Given the description of an element on the screen output the (x, y) to click on. 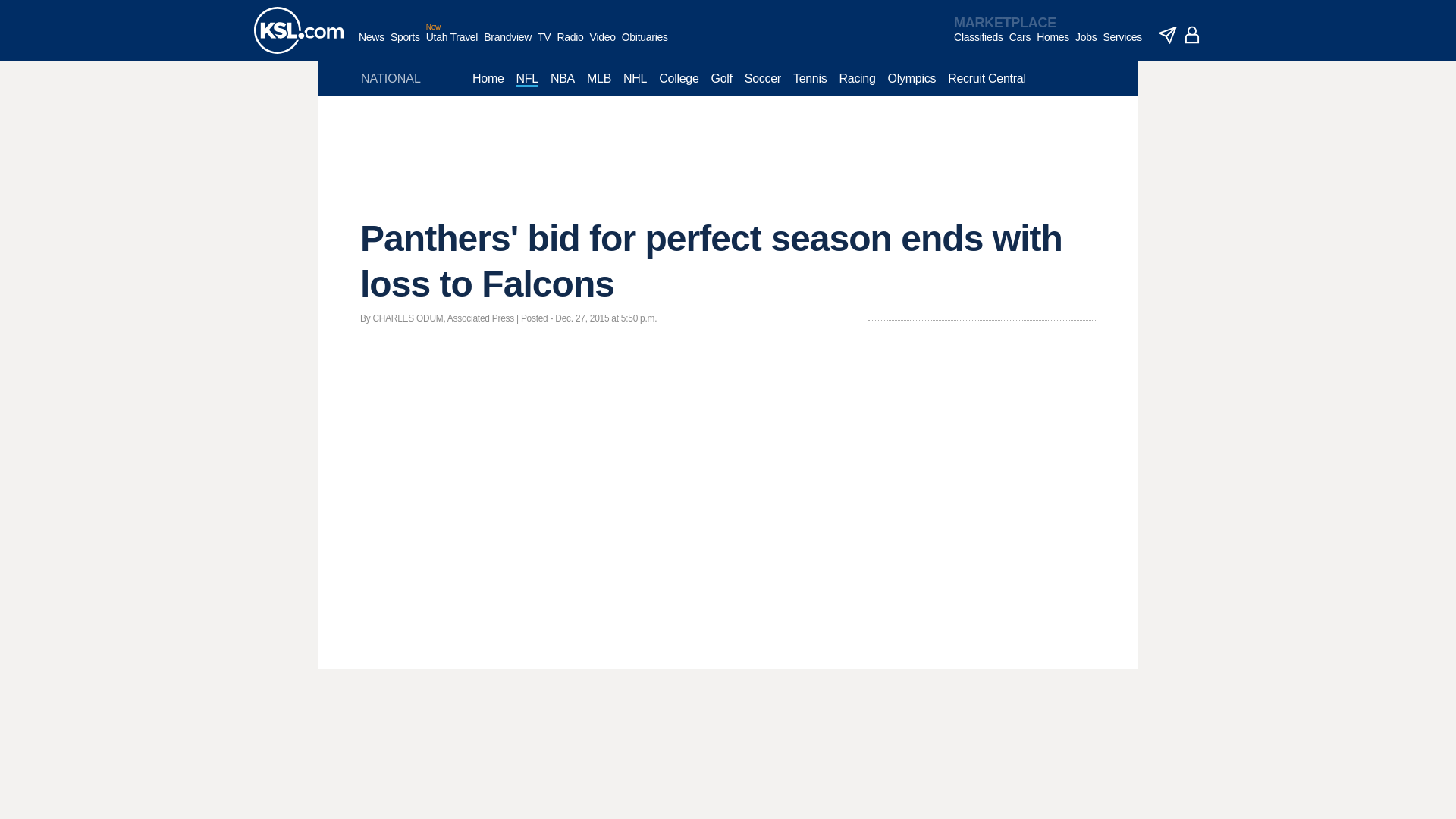
KSL homepage (298, 30)
Brandview (507, 45)
Utah Travel (452, 45)
account - logged out (1191, 34)
KSL homepage (298, 29)
Sports (405, 45)
